Given the description of an element on the screen output the (x, y) to click on. 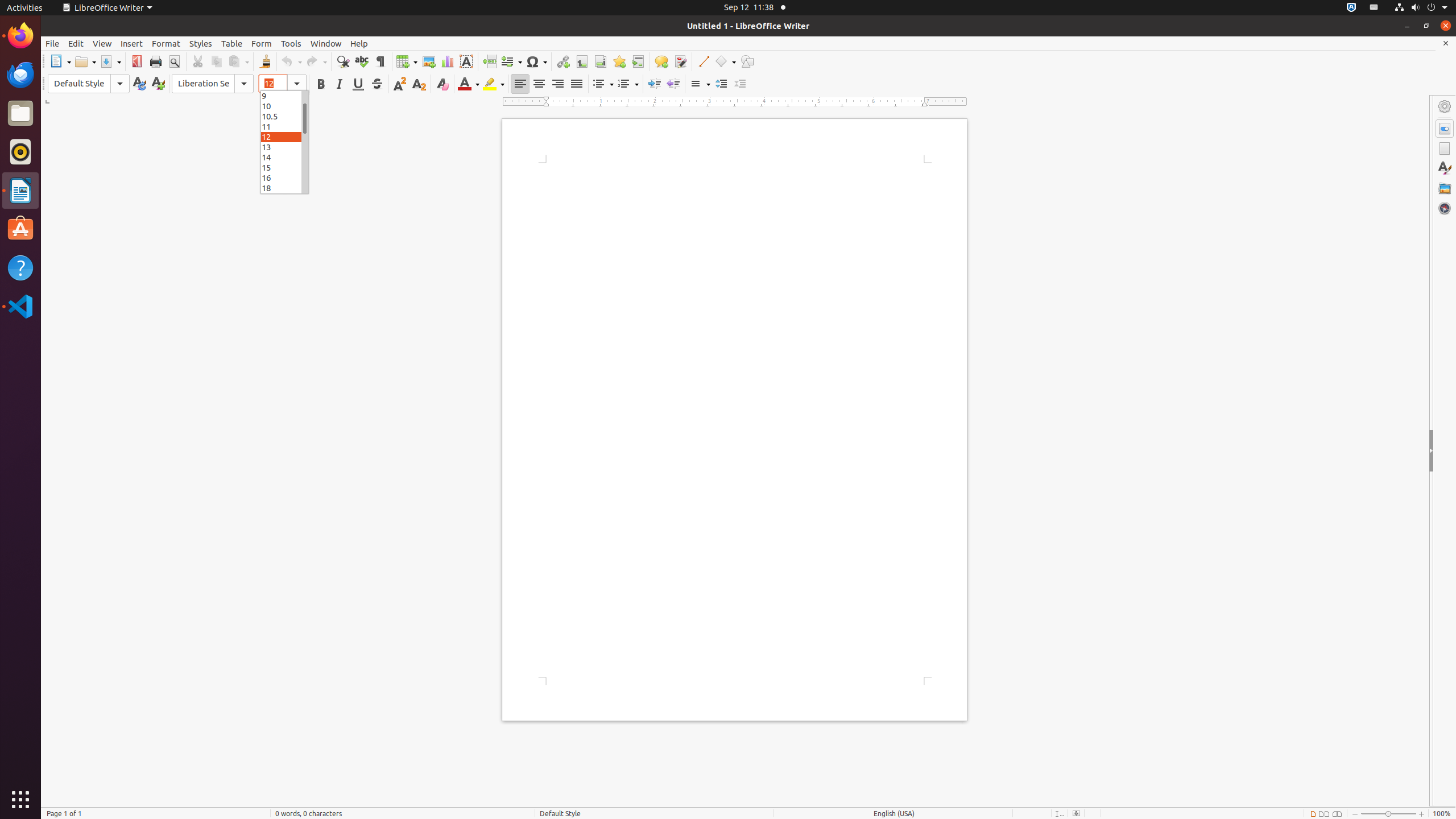
Help Element type: menu (358, 43)
View Element type: menu (102, 43)
Table Element type: push-button (406, 61)
Comment Element type: push-button (660, 61)
Table Element type: menu (231, 43)
